Given the description of an element on the screen output the (x, y) to click on. 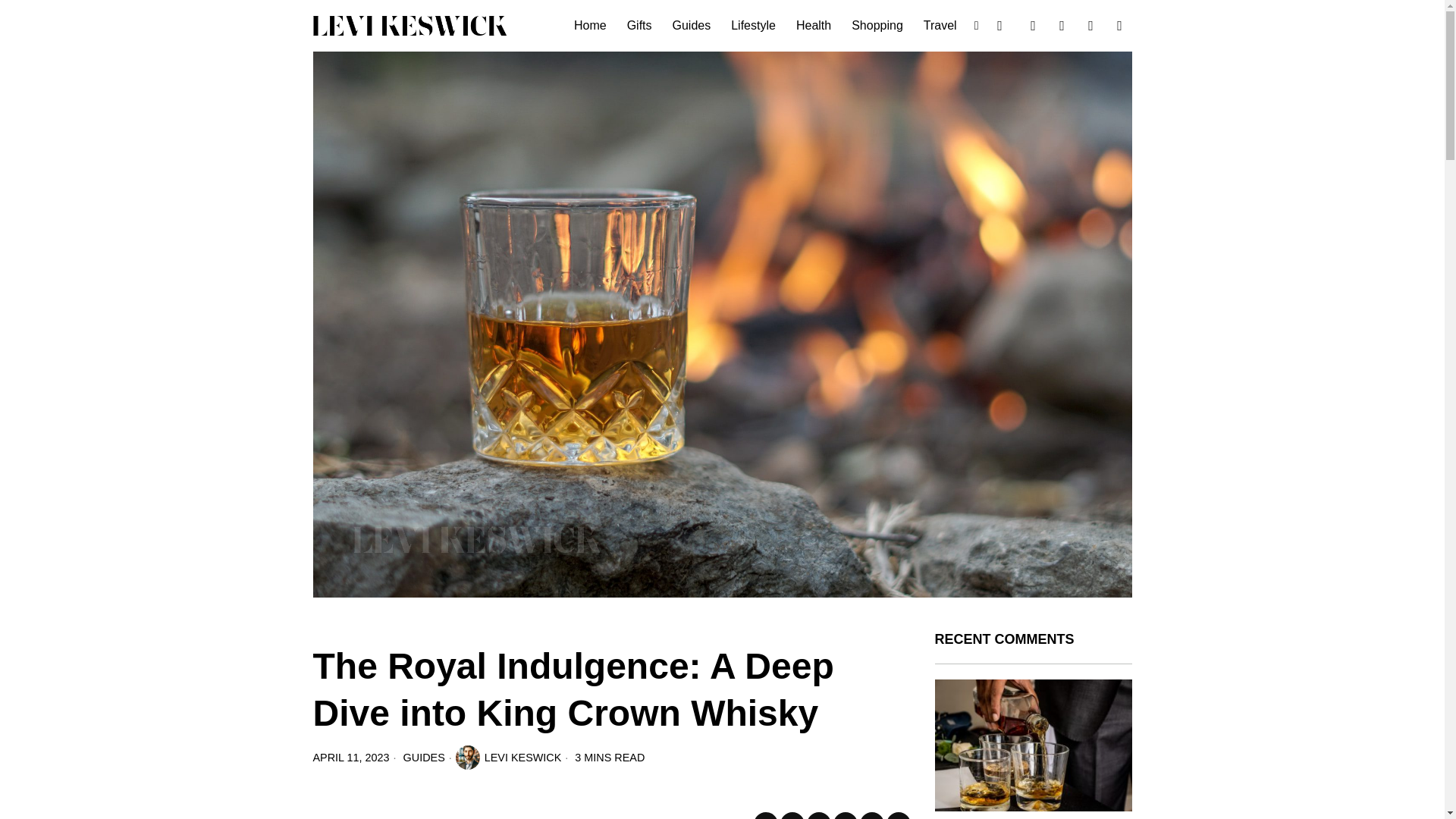
Lifestyle (754, 25)
Shopping (878, 25)
Home (590, 25)
Guides (692, 25)
11 Apr, 2023 21:17:55 (350, 757)
Gifts (640, 25)
Travel (941, 25)
GUIDES (424, 757)
LEVI KESWICK (508, 757)
Health (815, 25)
